Given the description of an element on the screen output the (x, y) to click on. 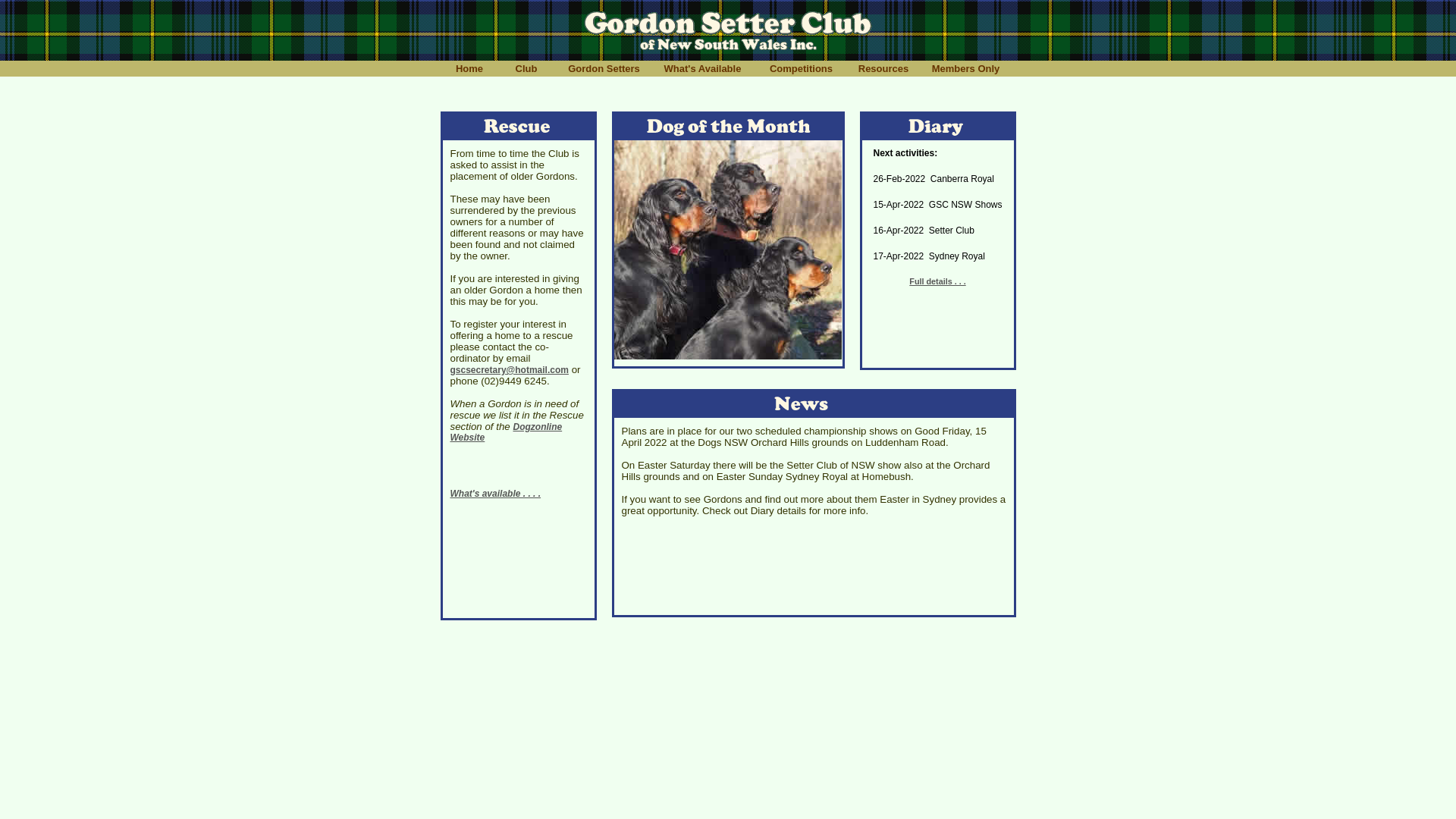
Gordon Setters Element type: text (604, 68)
Resources Element type: text (883, 68)
Home Element type: text (469, 68)
What's available . . . . Element type: text (495, 493)
Full details . . . Element type: text (937, 280)
Club Element type: text (525, 68)
gscsecretary@hotmail.com Element type: text (509, 369)
Dogzonline Website Element type: text (506, 431)
Members Only Element type: text (965, 68)
Competitions Element type: text (801, 68)
What's Available Element type: text (702, 68)
